Given the description of an element on the screen output the (x, y) to click on. 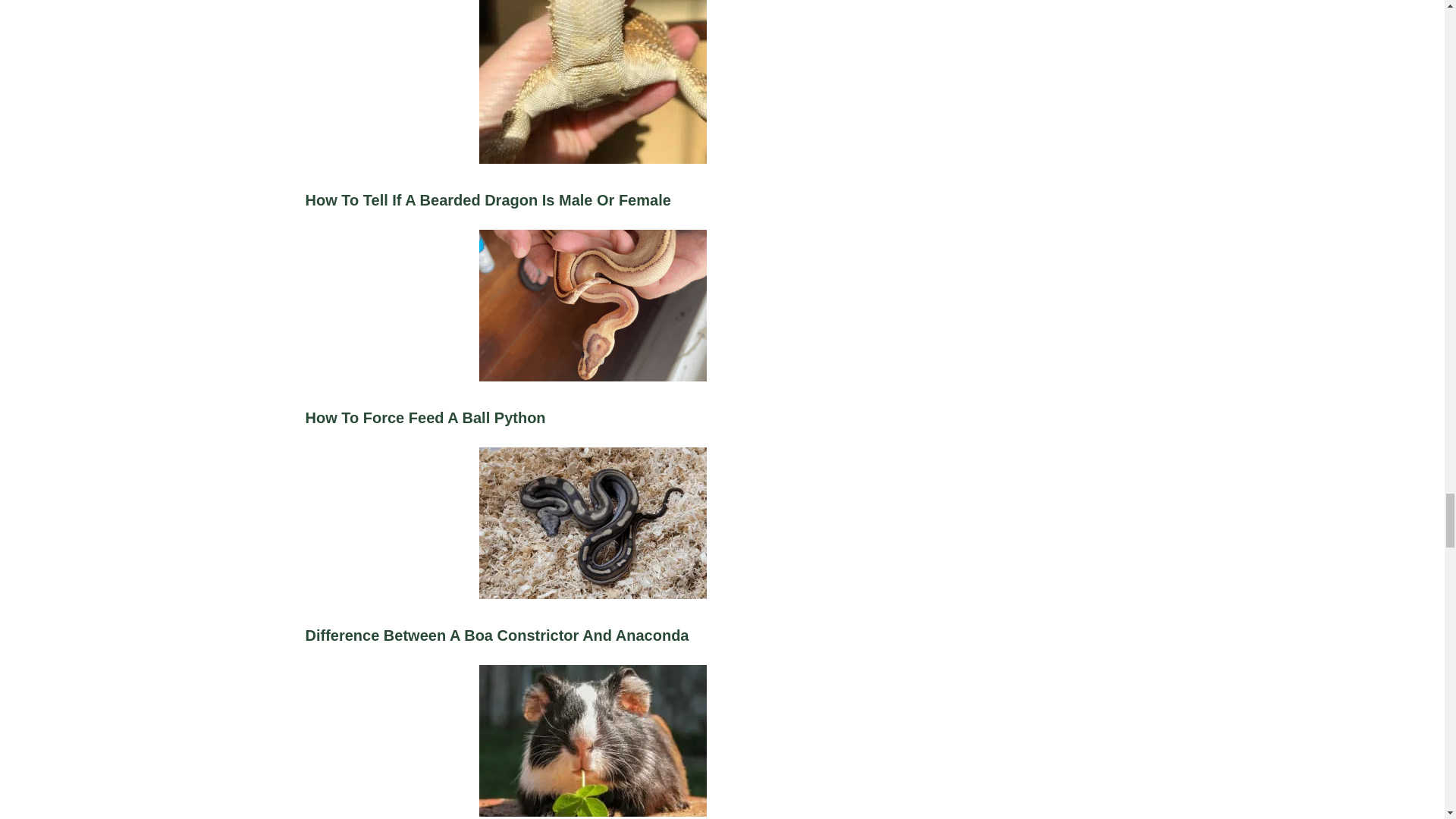
Why Do Guinea Pigs Like To Hide In And Eat Hair? (592, 742)
